Given the description of an element on the screen output the (x, y) to click on. 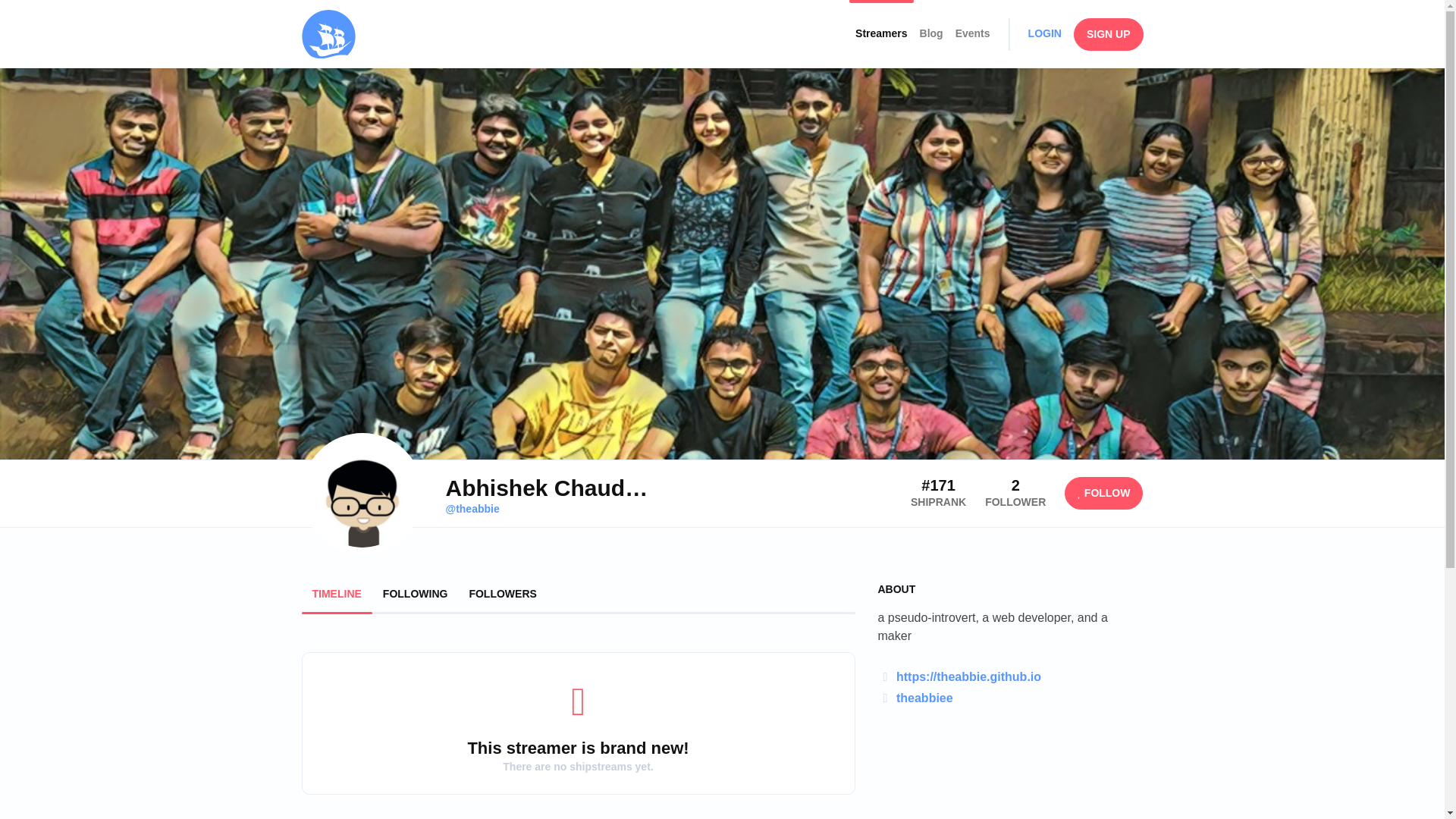
TIMELINE (337, 593)
LOGIN (1044, 33)
FOLLOWERS (501, 593)
FOLLOW (1103, 492)
SIGN UP (1108, 34)
theabbiee (924, 697)
Streamers (881, 33)
Blog (931, 33)
Events (972, 33)
FOLLOWING (415, 593)
